Given the description of an element on the screen output the (x, y) to click on. 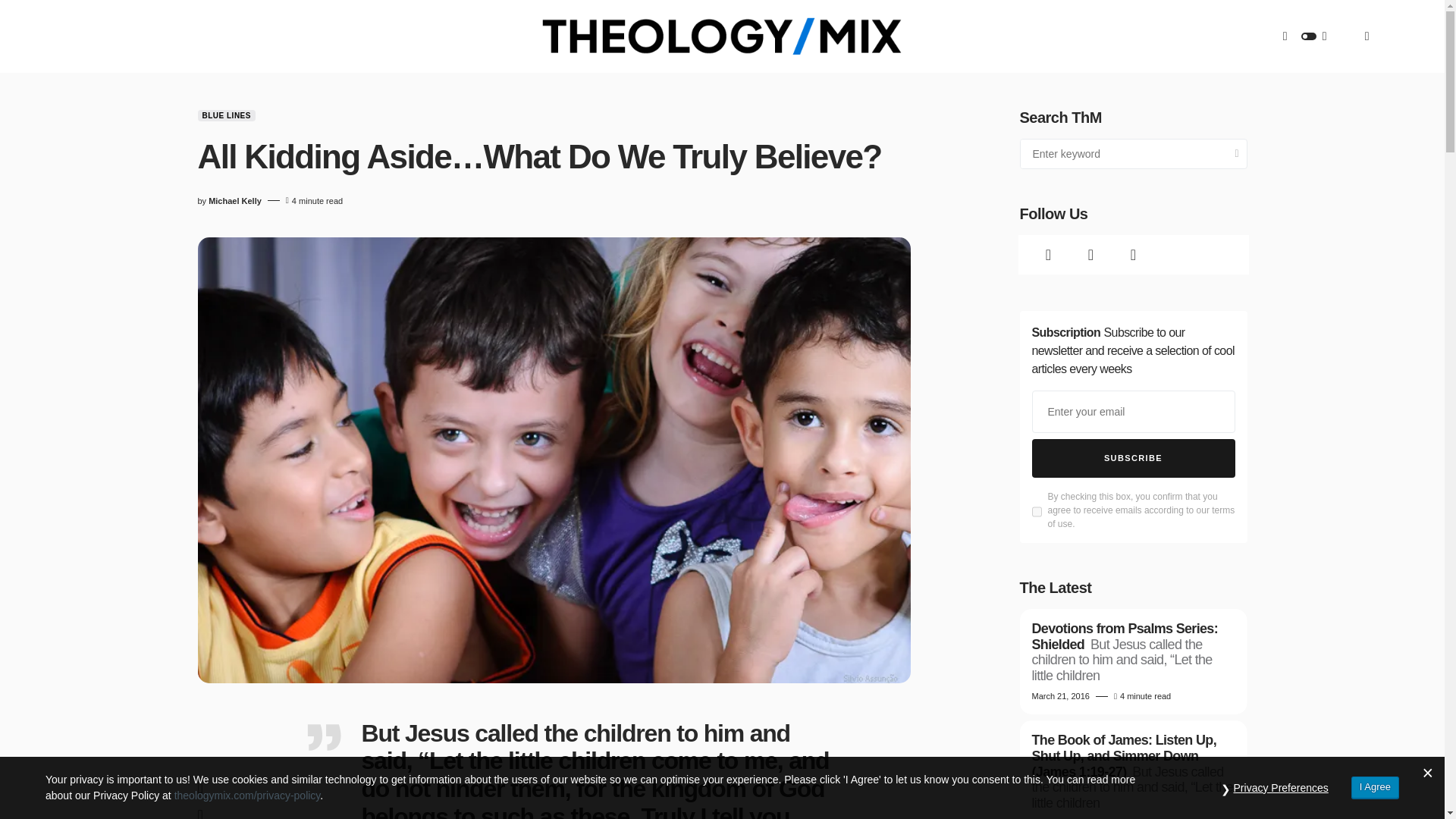
BLUE LINES (225, 115)
View all posts by Michael Kelly (235, 201)
Michael Kelly (235, 201)
